Given the description of an element on the screen output the (x, y) to click on. 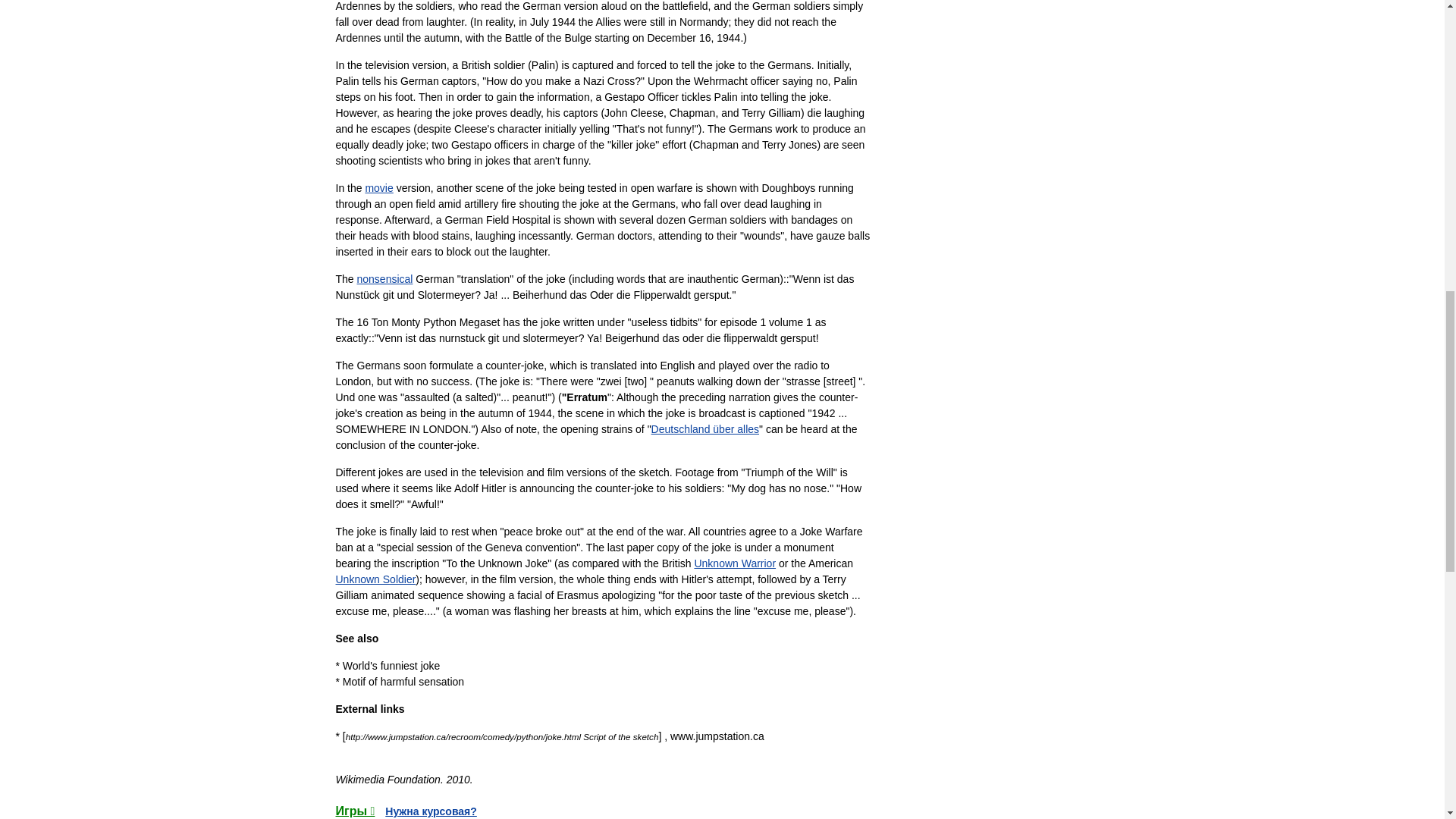
Unknown Warrior (735, 563)
movie (379, 187)
Unknown Soldier (374, 579)
nonsensical (384, 278)
